Given the description of an element on the screen output the (x, y) to click on. 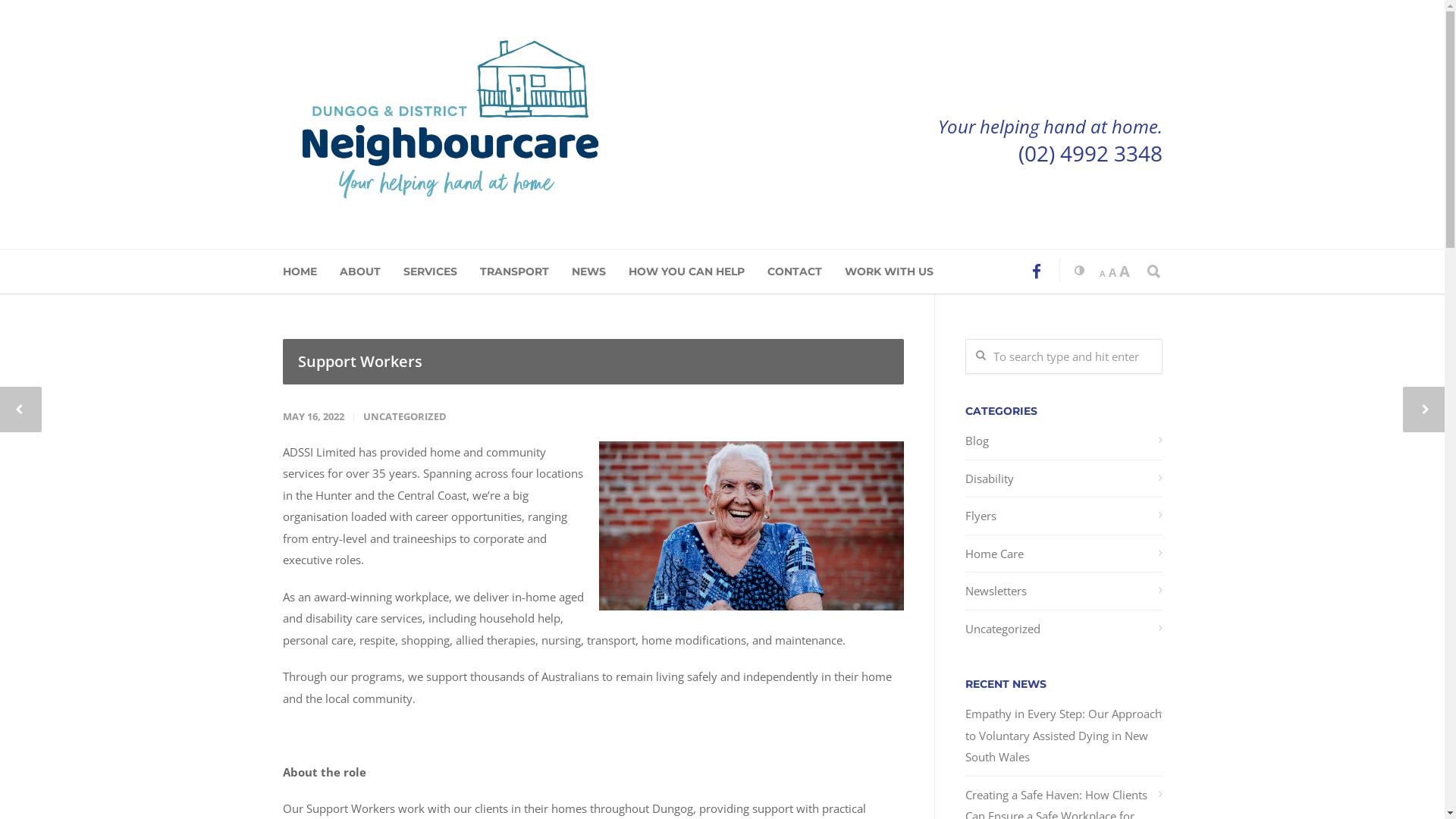
A
Decrease font size. Element type: text (1102, 273)
Newsletters Element type: text (1062, 591)
HOME Element type: text (310, 271)
Facebook Element type: hover (1035, 271)
NEWS Element type: text (599, 271)
A
Reset font size. Element type: text (1112, 271)
Home Care Element type: text (1062, 553)
Blog Element type: text (1062, 440)
Disability Element type: text (1062, 478)
Support Workers Element type: text (592, 361)
Uncategorized Element type: text (1062, 628)
UNCATEGORIZED Element type: text (403, 416)
A
Increase font size. Element type: text (1124, 270)
ABOUT Element type: text (371, 271)
HOW YOU CAN HELP Element type: text (696, 271)
TRANSPORT Element type: text (525, 271)
(02) 4992 3348 Element type: text (1089, 152)
WORK WITH US Element type: text (900, 271)
Toggle high contrast Element type: hover (1070, 270)
Search Element type: text (40, 16)
CONTACT Element type: text (805, 271)
SERVICES Element type: text (441, 271)
Flyers Element type: text (1062, 516)
